Given the description of an element on the screen output the (x, y) to click on. 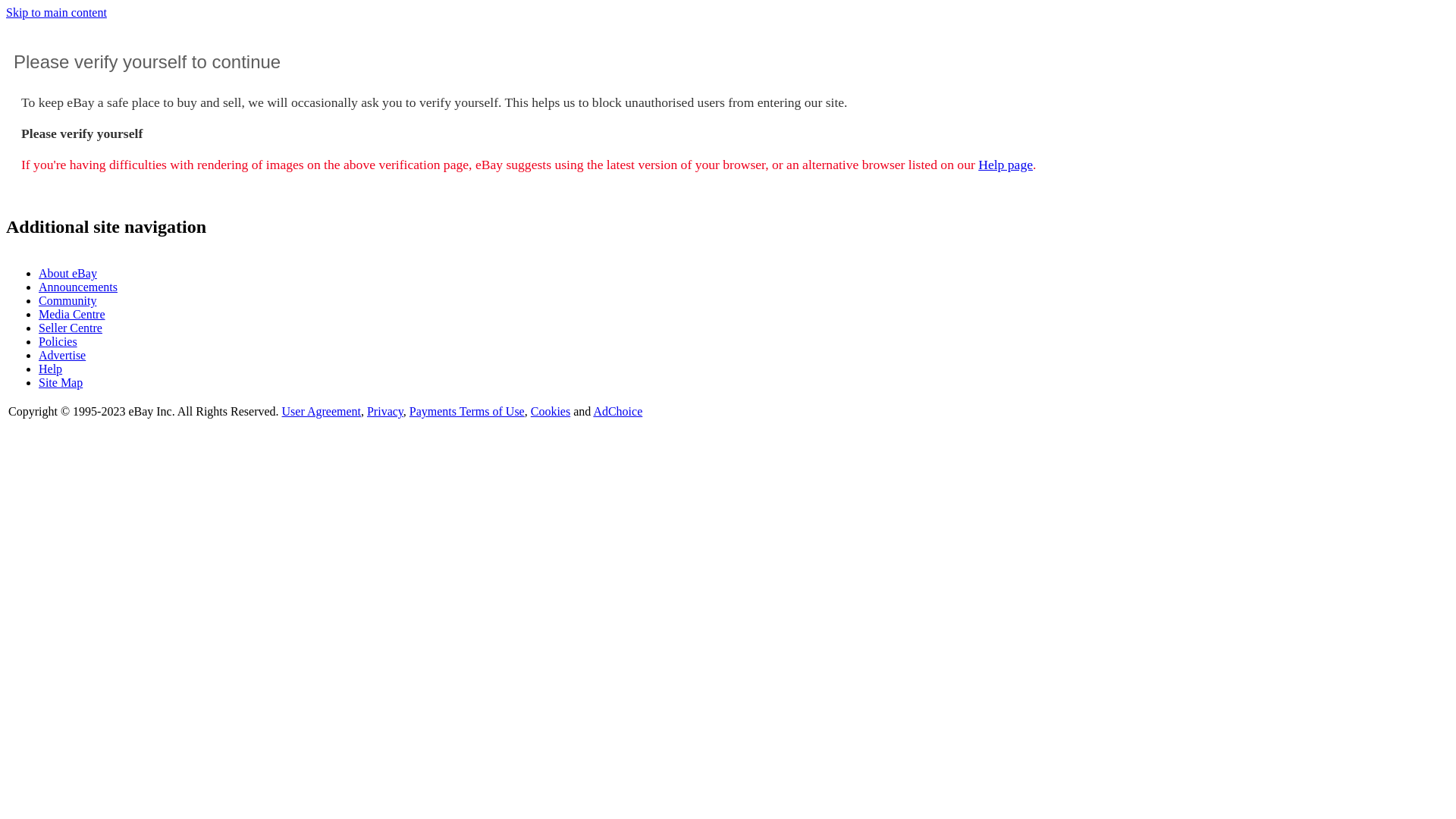
Community Element type: text (67, 300)
Policies Element type: text (57, 341)
Skip to main content Element type: text (56, 12)
Cookies Element type: text (550, 410)
Payments Terms of Use Element type: text (466, 410)
Privacy Element type: text (385, 410)
Help Element type: text (50, 368)
Announcements Element type: text (77, 286)
Media Centre Element type: text (71, 313)
Help page Element type: text (1005, 164)
AdChoice Element type: text (617, 410)
Site Map Element type: text (60, 382)
User Agreement Element type: text (321, 410)
Advertise Element type: text (61, 354)
Seller Centre Element type: text (70, 327)
About eBay Element type: text (67, 272)
